Given the description of an element on the screen output the (x, y) to click on. 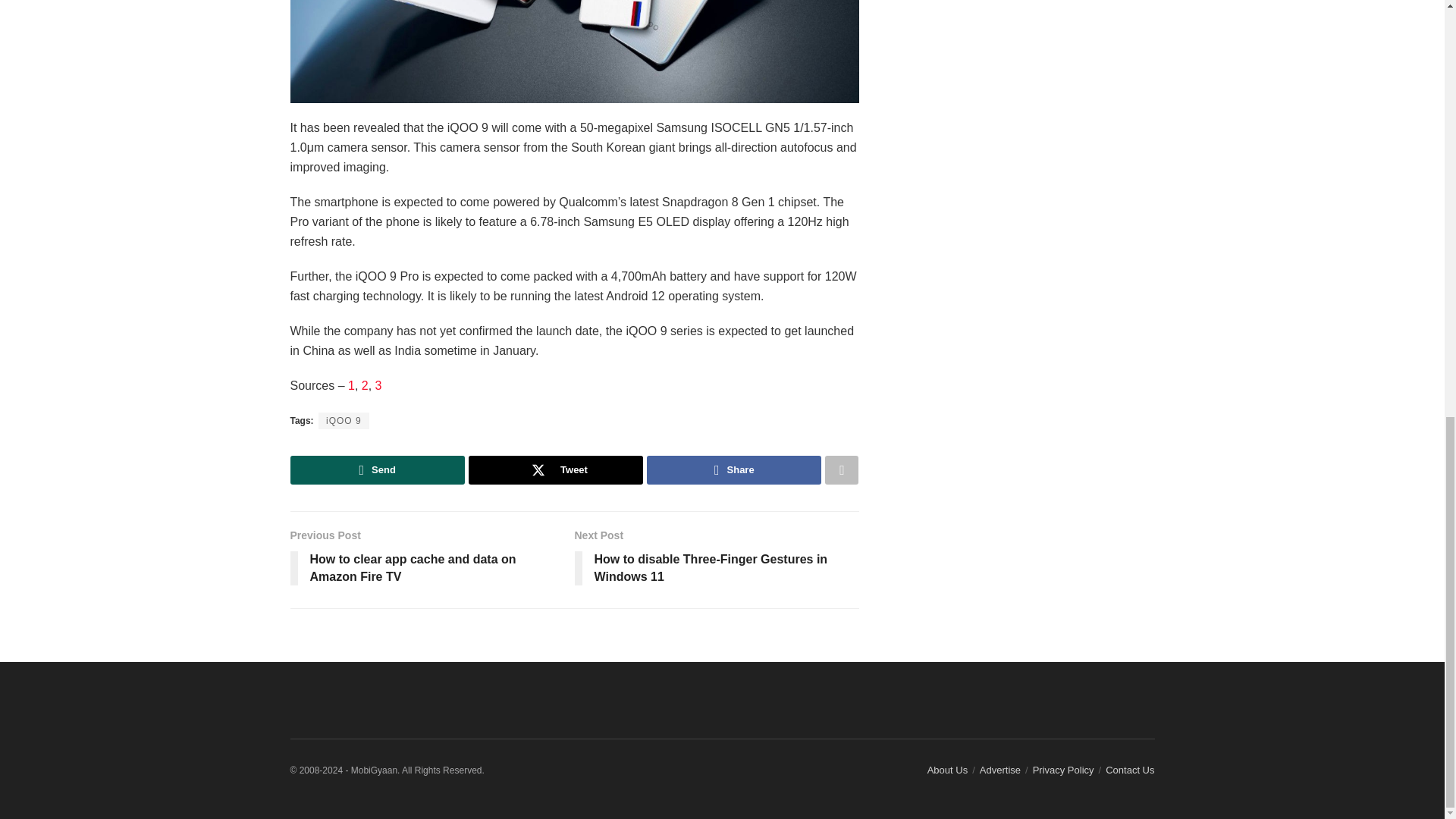
Tweet (555, 469)
iQOO 9 (343, 420)
Send (376, 469)
